Given the description of an element on the screen output the (x, y) to click on. 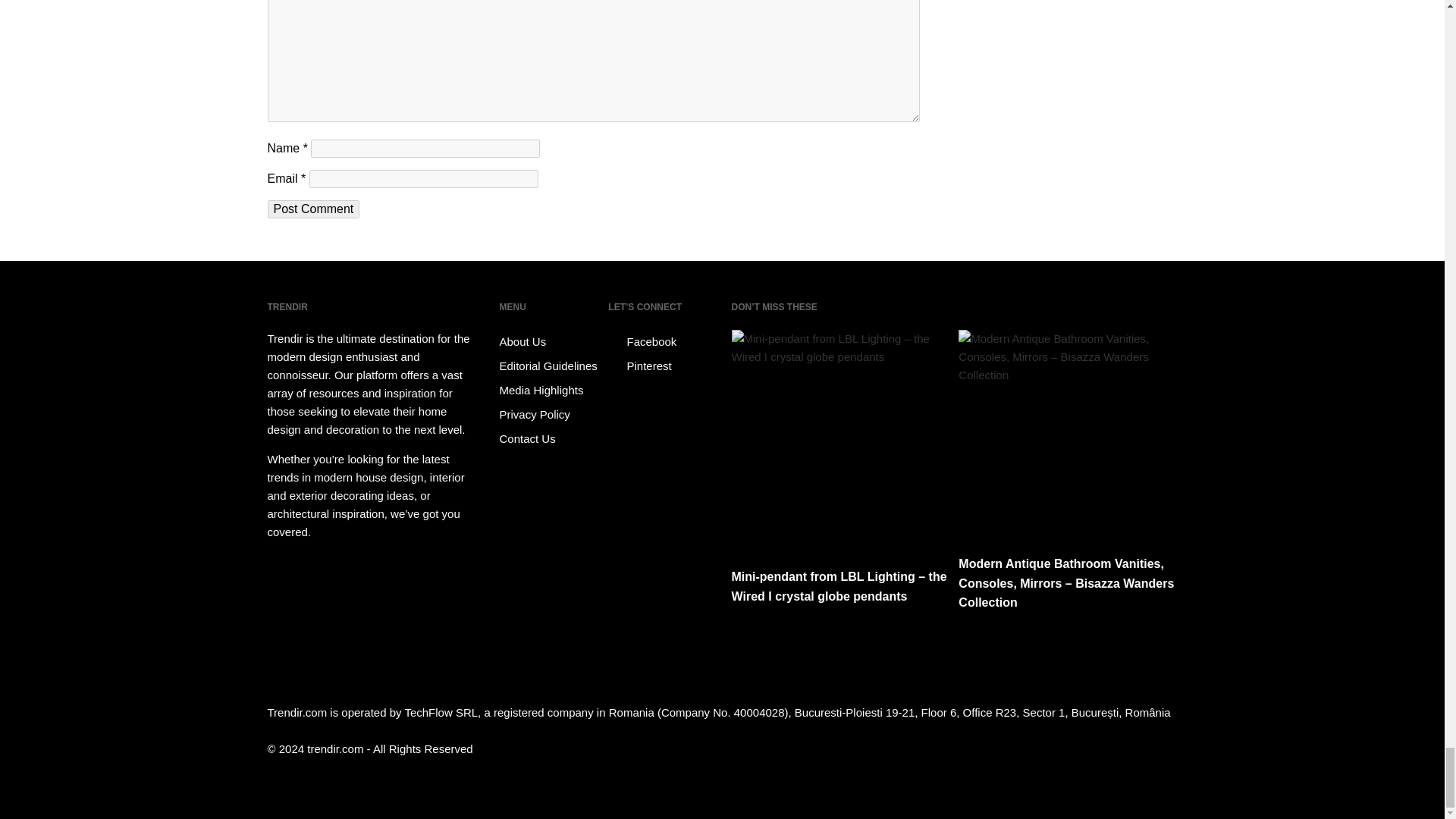
Trendir Editorial Guidelines (551, 365)
Media Highlights - Trendir (551, 390)
Post Comment (312, 208)
About Us - Trendir (551, 341)
